Given the description of an element on the screen output the (x, y) to click on. 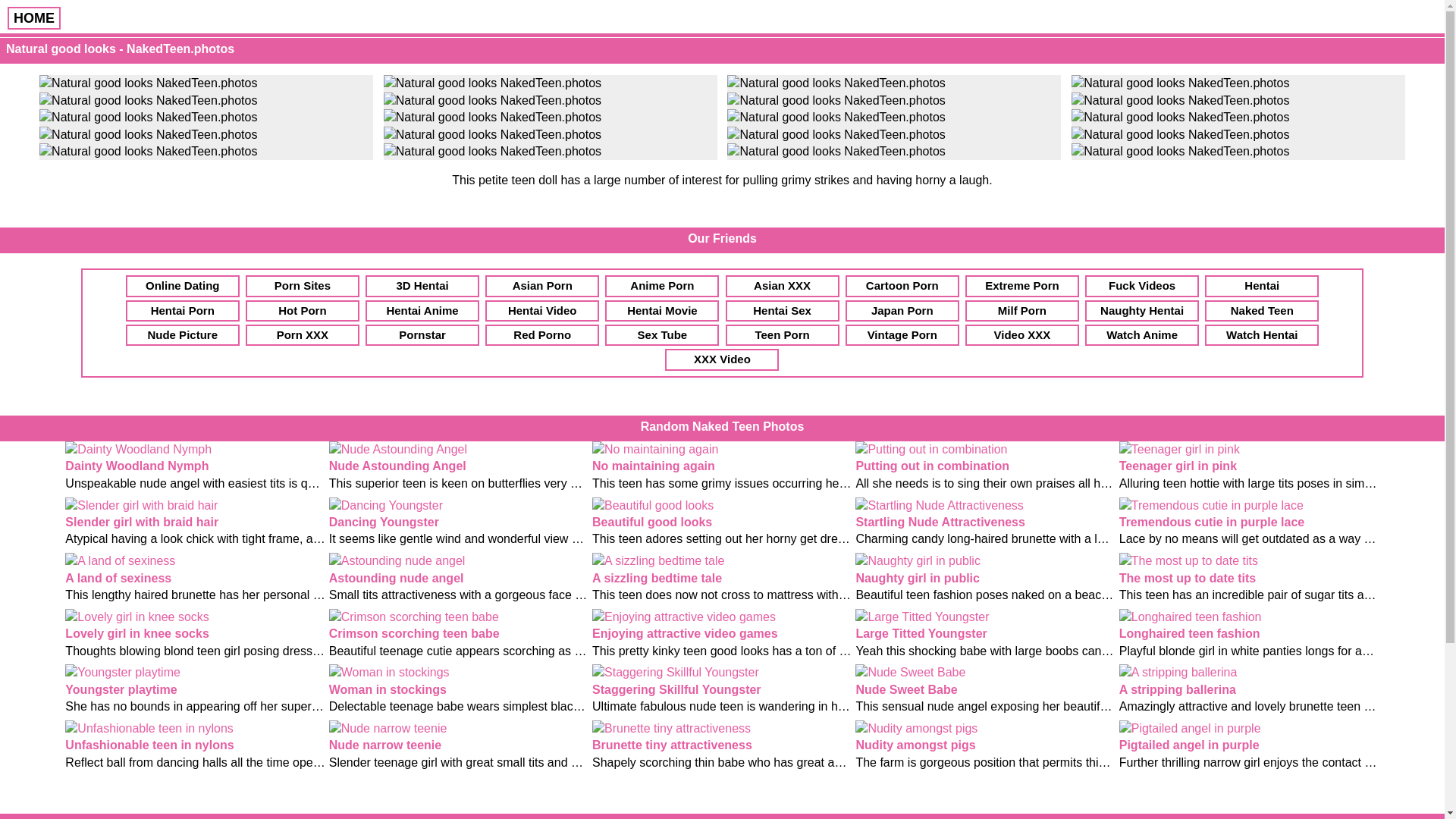
Natural good looks   NakedTeen.photos (148, 100)
Natural good looks   NakedTeen.photos (148, 83)
Natural good looks   NakedTeen.photos (148, 134)
Natural good looks   NakedTeen.photos (492, 83)
Natural good looks   NakedTeen.photos (492, 100)
Online Dating (182, 285)
Natural good looks   NakedTeen.photos (835, 117)
Natural good looks   NakedTeen.photos (1179, 117)
Natural good looks   NakedTeen.photos (1179, 83)
Hentai (1262, 285)
